Given the description of an element on the screen output the (x, y) to click on. 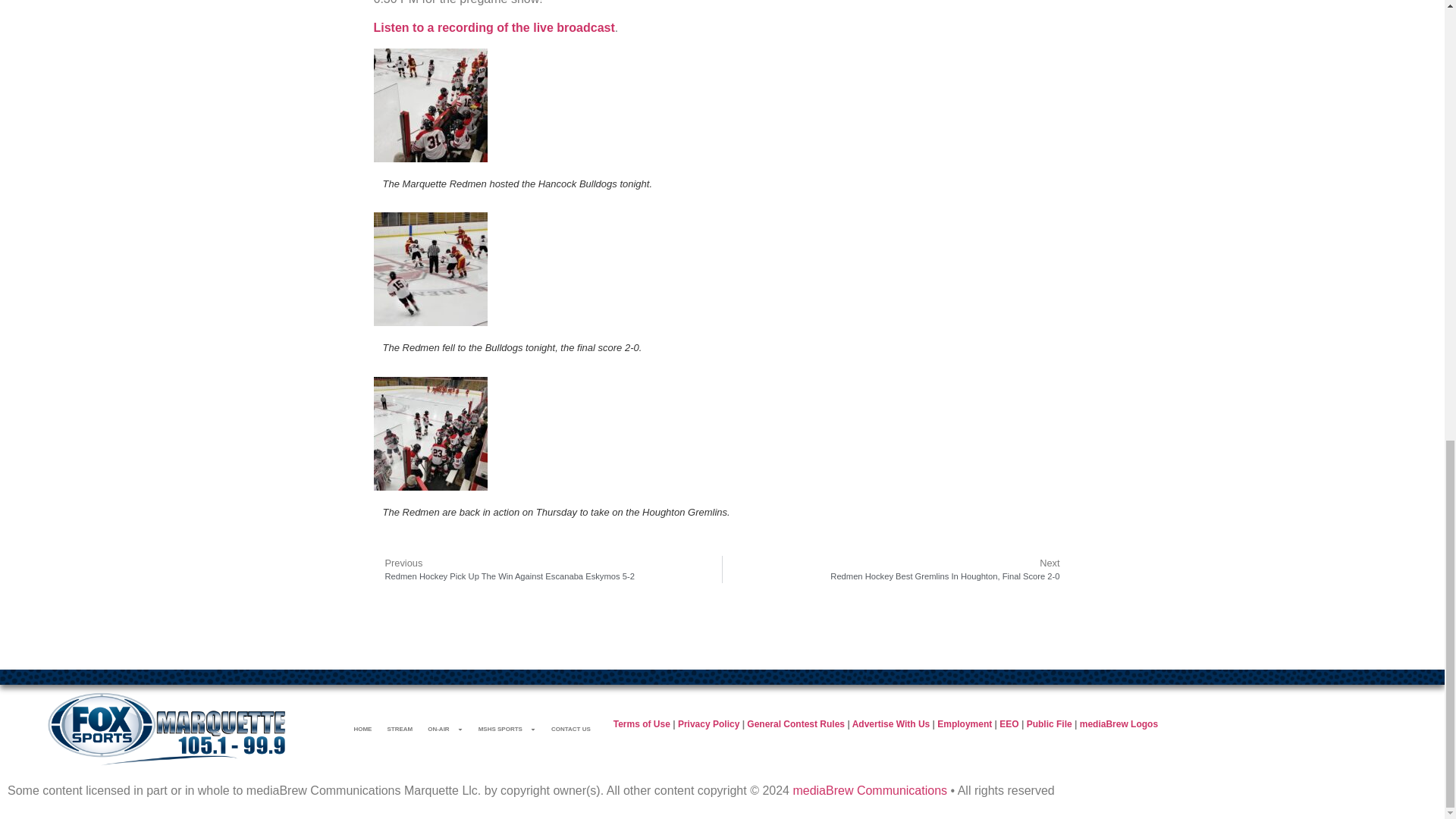
Advertise with mediaBrew Communications (890, 724)
mediaBrew EEO (1007, 724)
mediaBrew Logo Pack (1118, 724)
mediaBrew Communications Public File (1048, 724)
mediaBrew Terms of Use (640, 724)
mediaBrew Employment (964, 724)
mediaBrew Communications Privacy Policy (708, 724)
mediaBrew General Contest Rules (795, 724)
Listen to a recording of the live broadcast (493, 27)
